Given the description of an element on the screen output the (x, y) to click on. 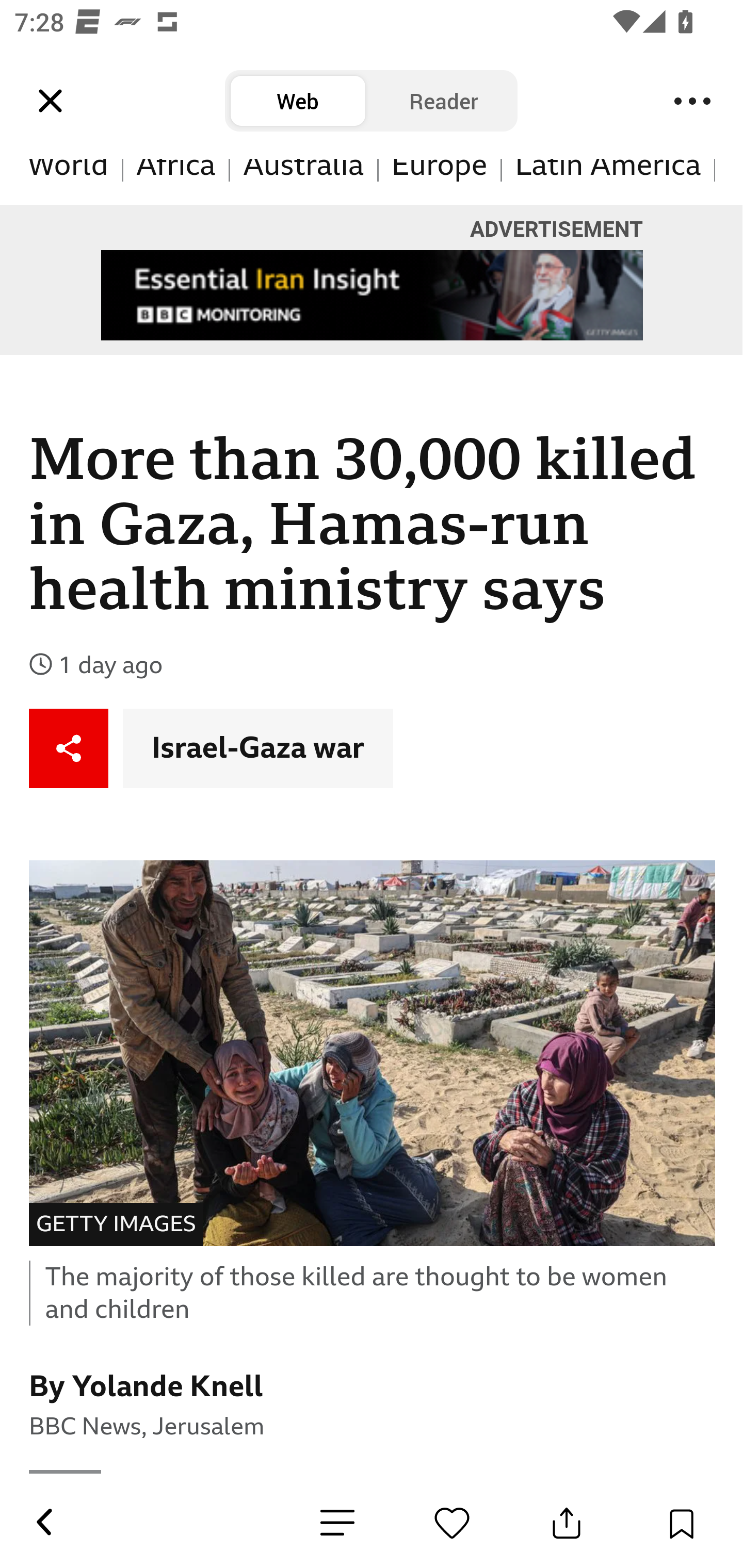
Leading Icon (50, 101)
Reader (443, 101)
Menu (692, 101)
World (69, 181)
Africa (176, 181)
Australia (303, 181)
Europe (439, 181)
Latin America (608, 181)
Share (68, 748)
Israel-Gaza war (257, 748)
Back Button (43, 1523)
News Detail Emotion (451, 1523)
Share Button (566, 1523)
Save Button (680, 1523)
News Detail Emotion (337, 1523)
